Given the description of an element on the screen output the (x, y) to click on. 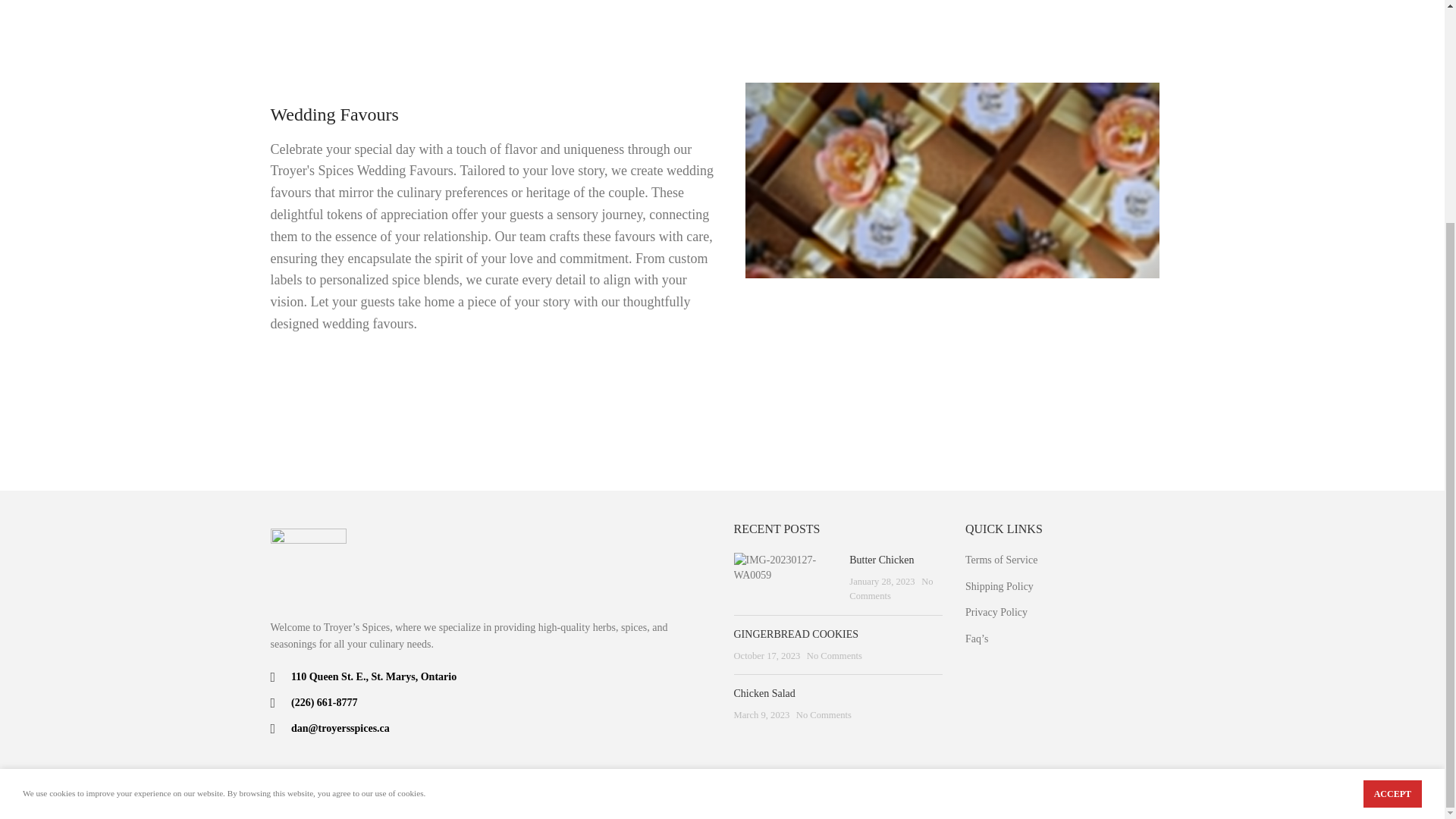
Permalink to Chicken Salad (763, 693)
110 Queen St. E., St. Marys, Ontario (489, 677)
IMG-20230127-WA0059 (785, 567)
No Comments (890, 588)
Permalink to Butter Chicken (881, 559)
Permalink to GINGERBREAD COOKIES (796, 633)
Butter Chicken (881, 559)
